Given the description of an element on the screen output the (x, y) to click on. 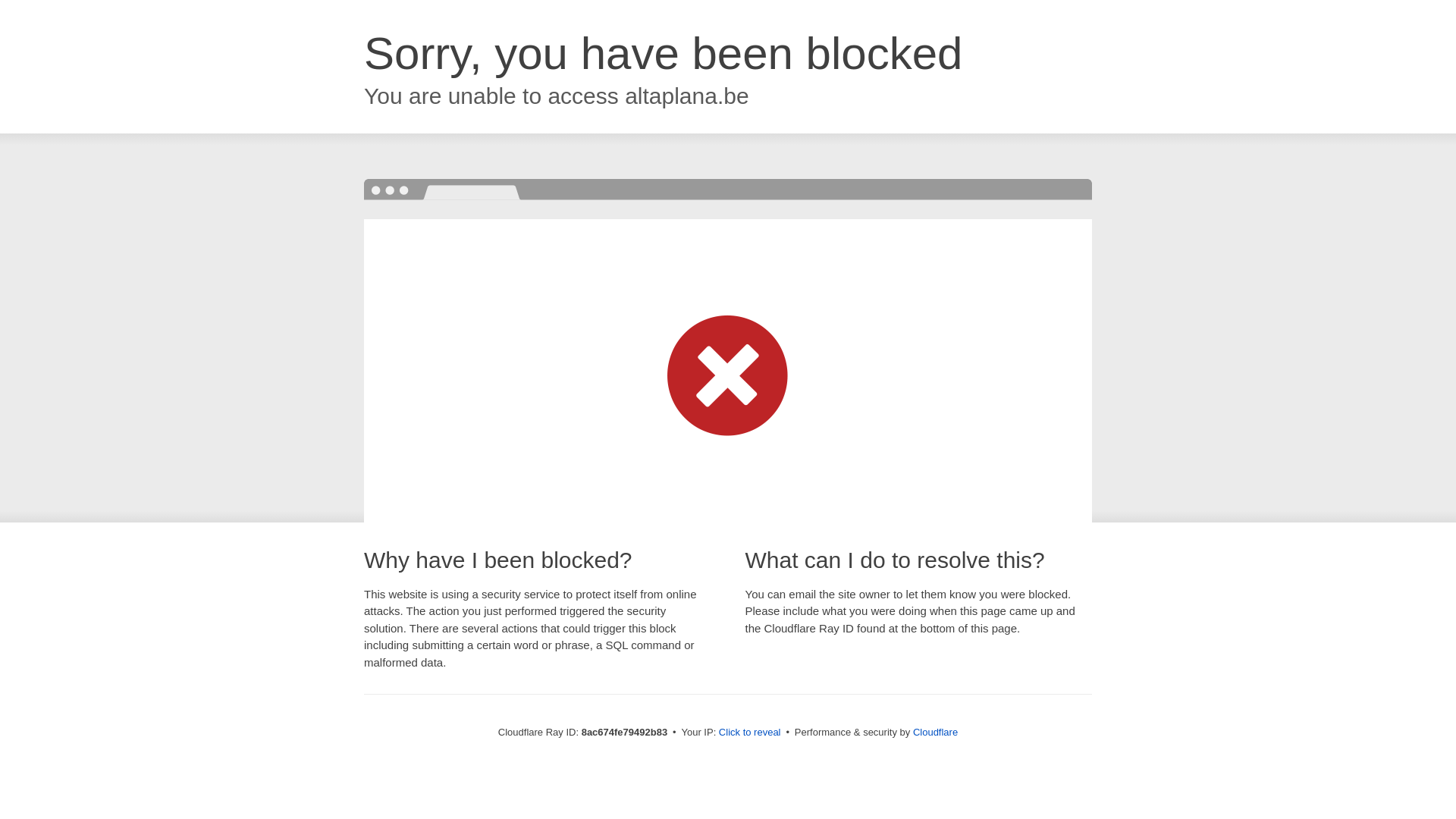
Click to reveal (749, 732)
Cloudflare (935, 731)
